Given the description of an element on the screen output the (x, y) to click on. 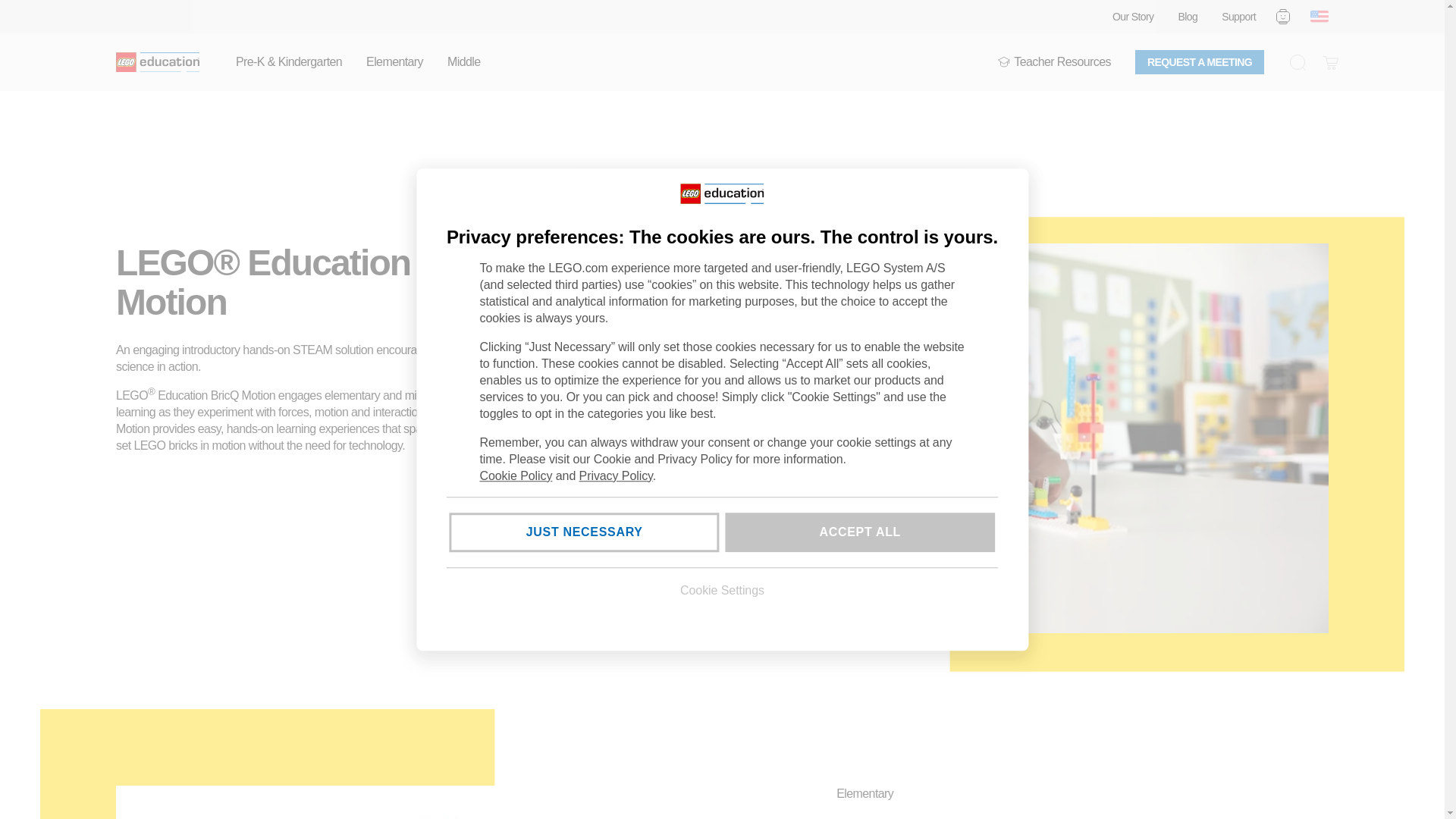
Blog (1187, 16)
PROFILE (1283, 16)
GRADE (1003, 61)
REQUEST A MEETING (1199, 61)
Our Story (1133, 16)
Teacher Resources (1053, 62)
Elementary (394, 62)
CART (1330, 62)
Support (1238, 16)
Middle (463, 62)
SEARCH (1297, 62)
